Given the description of an element on the screen output the (x, y) to click on. 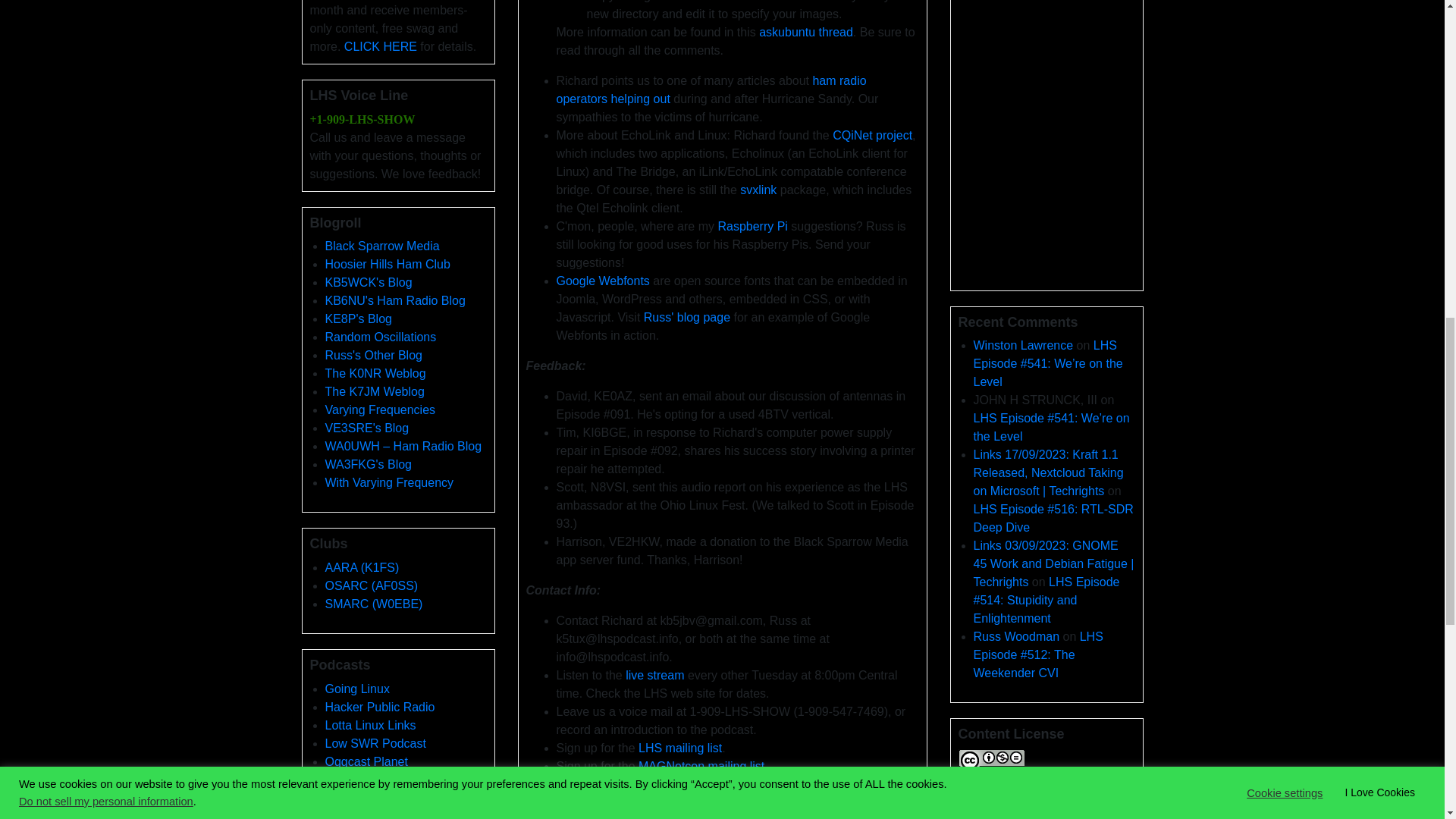
CLICK HERE (379, 46)
Black Sparrow Media (381, 245)
Hoosier Hills Ham Club (386, 264)
Hoosier Hills Ham Club (386, 264)
Black Sparrow Media (381, 245)
Having Fun with Amateur Radio (394, 300)
